Given the description of an element on the screen output the (x, y) to click on. 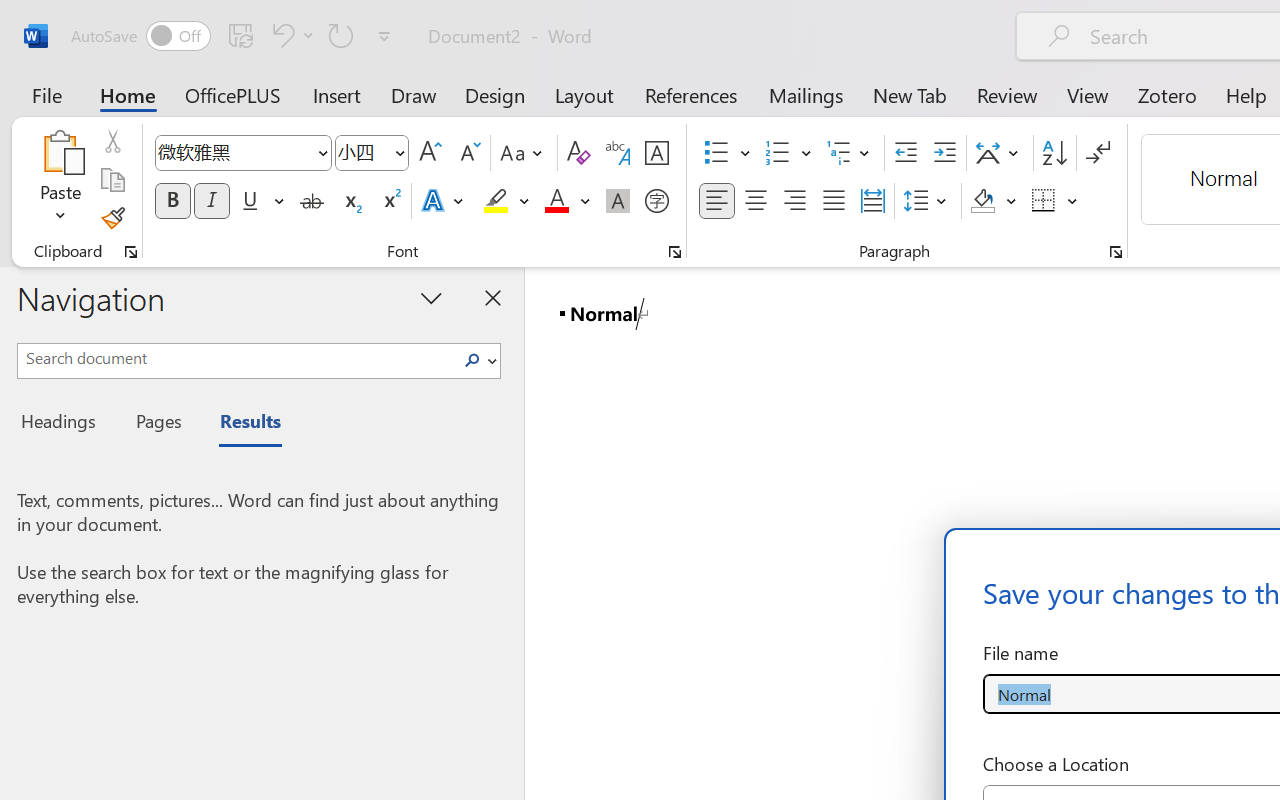
Change Case (524, 153)
Font... (675, 252)
Borders (1044, 201)
Task Pane Options (431, 297)
Shrink Font (468, 153)
Numbering (788, 153)
Home (127, 94)
Show/Hide Editing Marks (1098, 153)
Bold (172, 201)
Quick Access Toolbar (233, 36)
Phonetic Guide... (618, 153)
Design (495, 94)
Headings (64, 424)
Align Left (716, 201)
Underline (250, 201)
